Given the description of an element on the screen output the (x, y) to click on. 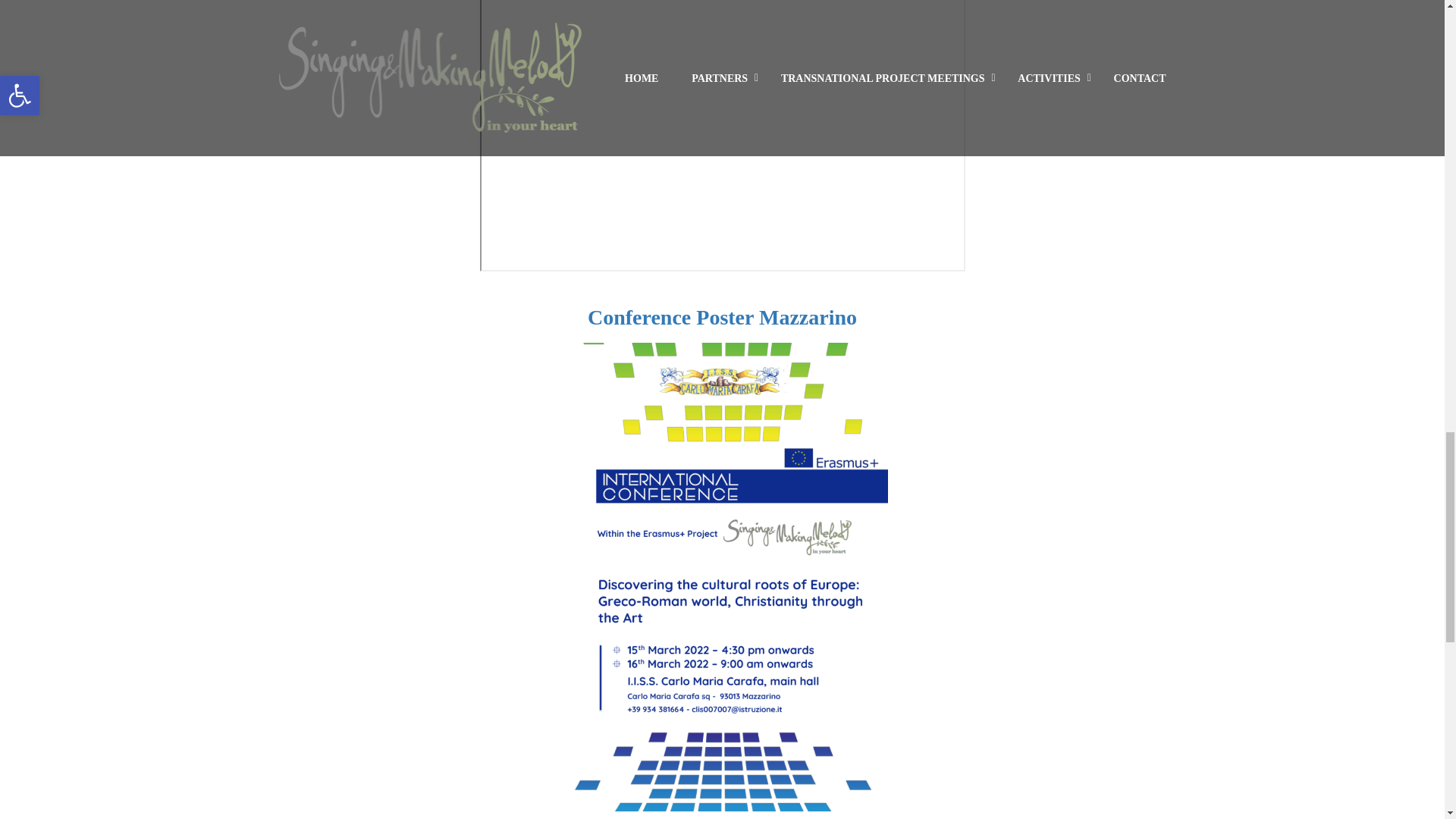
Conference Poster Mazzarino (722, 317)
